Given the description of an element on the screen output the (x, y) to click on. 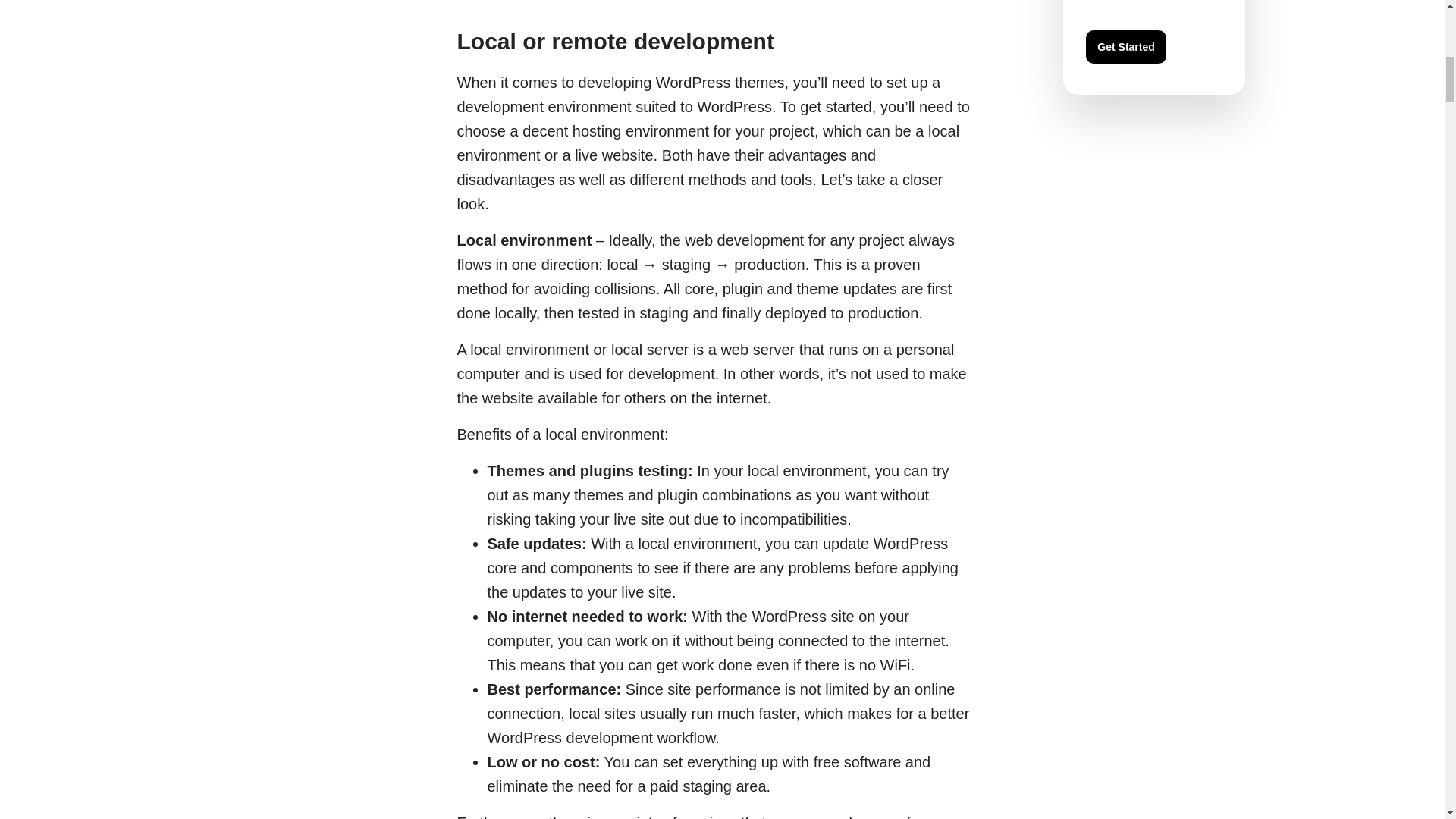
Get Started (1126, 46)
